Given the description of an element on the screen output the (x, y) to click on. 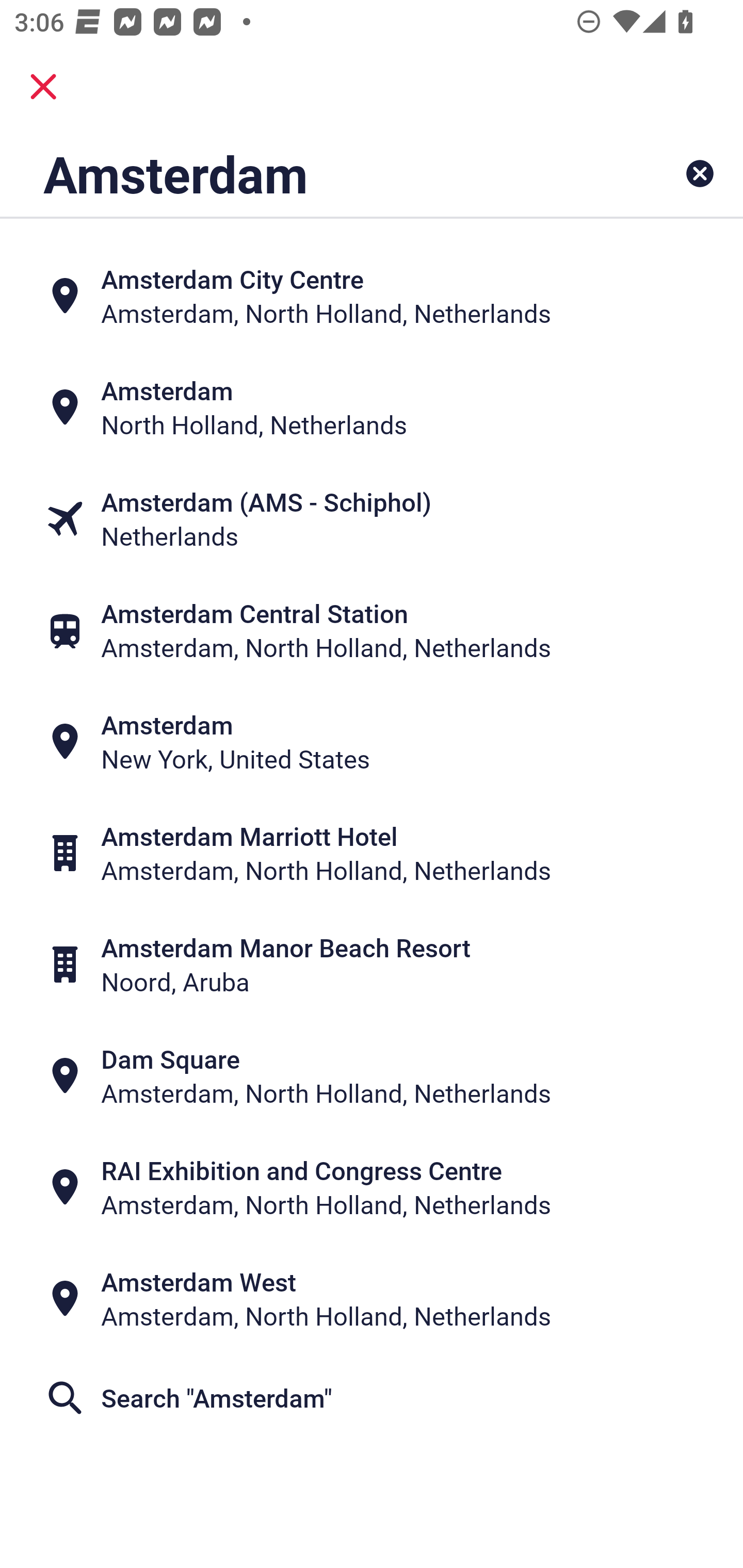
close. (43, 86)
Clear (699, 173)
Amsterdam (306, 173)
Amsterdam North Holland, Netherlands (371, 406)
Amsterdam (AMS - Schiphol) Netherlands (371, 517)
Amsterdam New York, United States (371, 742)
Amsterdam Manor Beach Resort Noord, Aruba (371, 964)
Dam Square Amsterdam, North Holland, Netherlands (371, 1076)
Search "Amsterdam" (371, 1397)
